Given the description of an element on the screen output the (x, y) to click on. 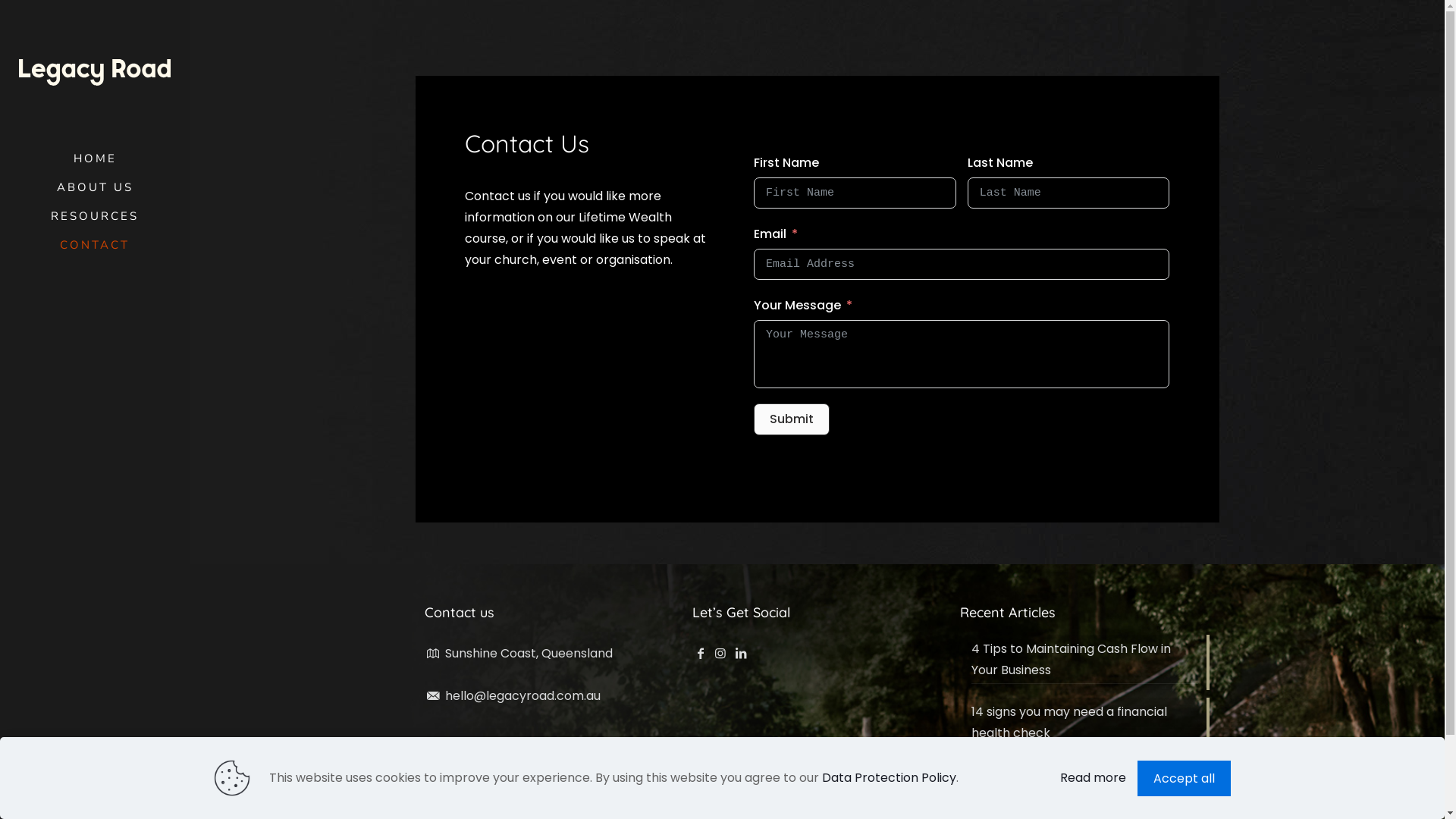
HOME Element type: text (94, 158)
Legacy Road Element type: hover (94, 71)
4 Tips to Maintaining Cash Flow in Your Business Element type: text (1084, 661)
Read more Element type: text (1093, 777)
Data Protection Policy Element type: text (889, 777)
Accept all Element type: text (1183, 777)
Navigating Rising Interest Rates Element type: text (1084, 776)
Submit Element type: text (791, 419)
CONTACT Element type: text (94, 244)
RESOURCES Element type: text (94, 215)
14 signs you may need a financial health check Element type: text (1084, 723)
ABOUT US Element type: text (94, 186)
